Given the description of an element on the screen output the (x, y) to click on. 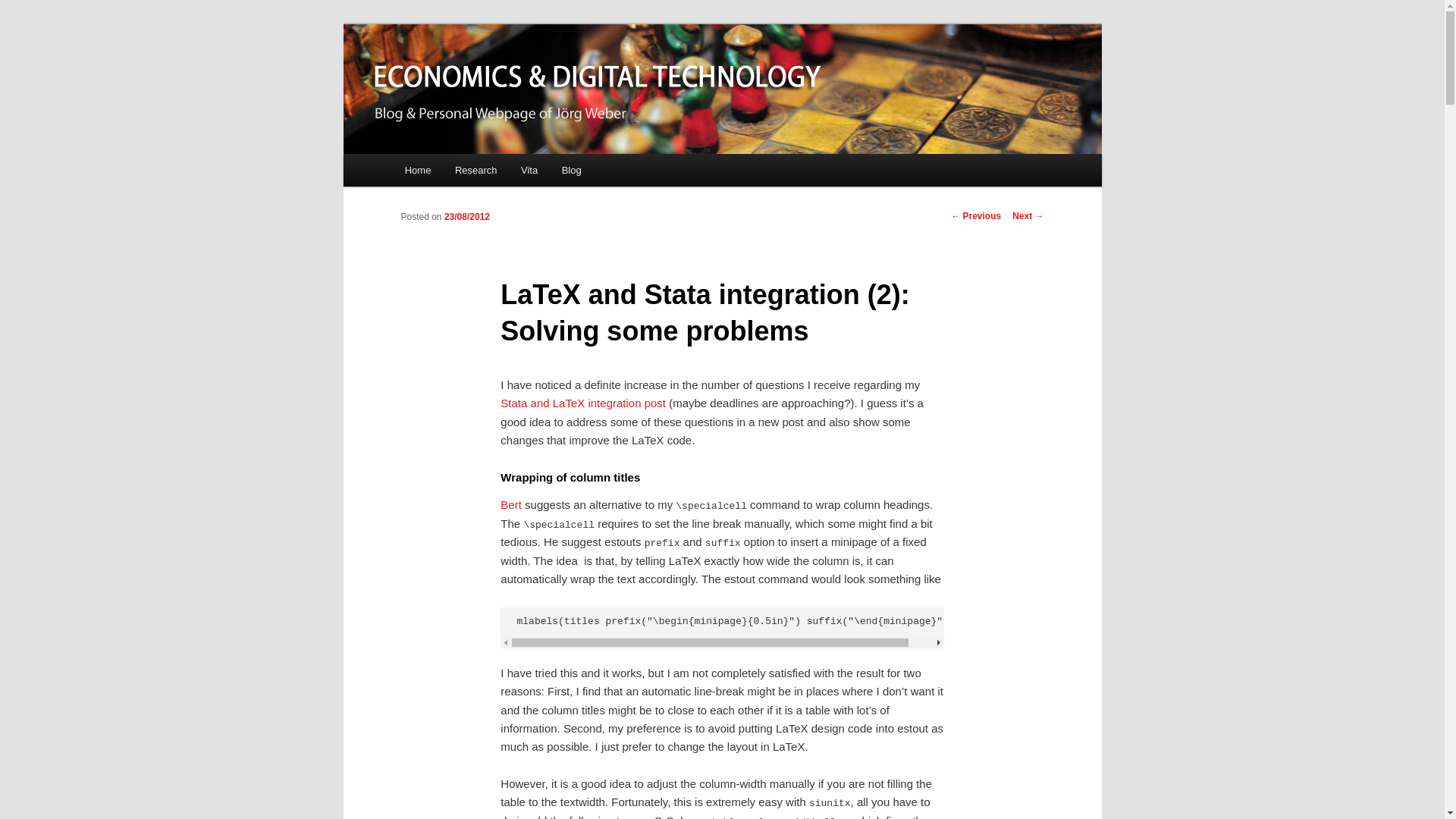
23/08/2012 Element type: text (466, 216)
Blog Element type: text (571, 169)
Bert Element type: text (510, 504)
Skip to primary content Element type: text (414, 153)
Research Element type: text (475, 169)
Home Element type: text (417, 169)
Stata and LaTeX integration post Element type: text (582, 402)
Vita Element type: text (528, 169)
